Given the description of an element on the screen output the (x, y) to click on. 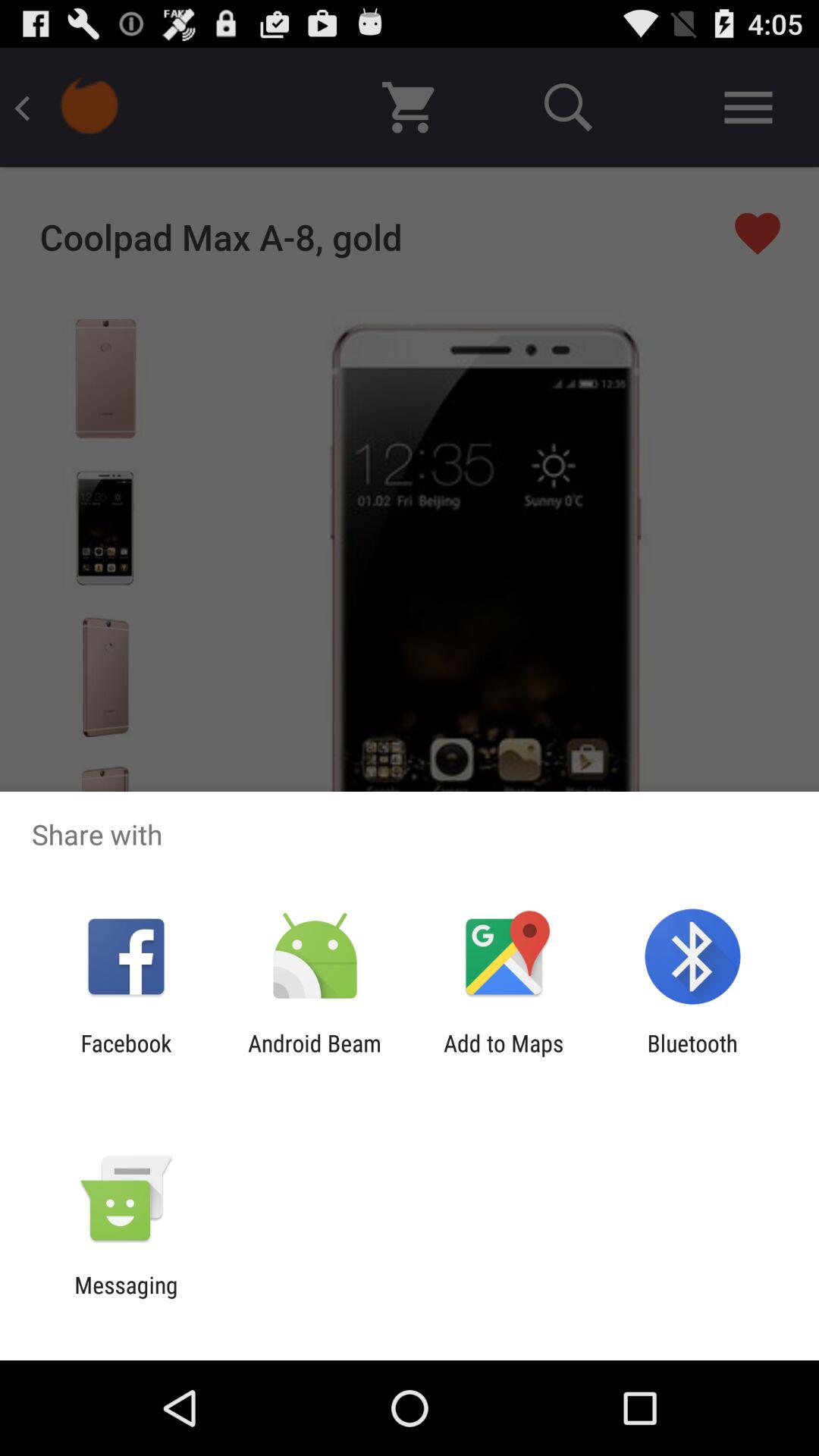
turn on add to maps icon (503, 1056)
